Given the description of an element on the screen output the (x, y) to click on. 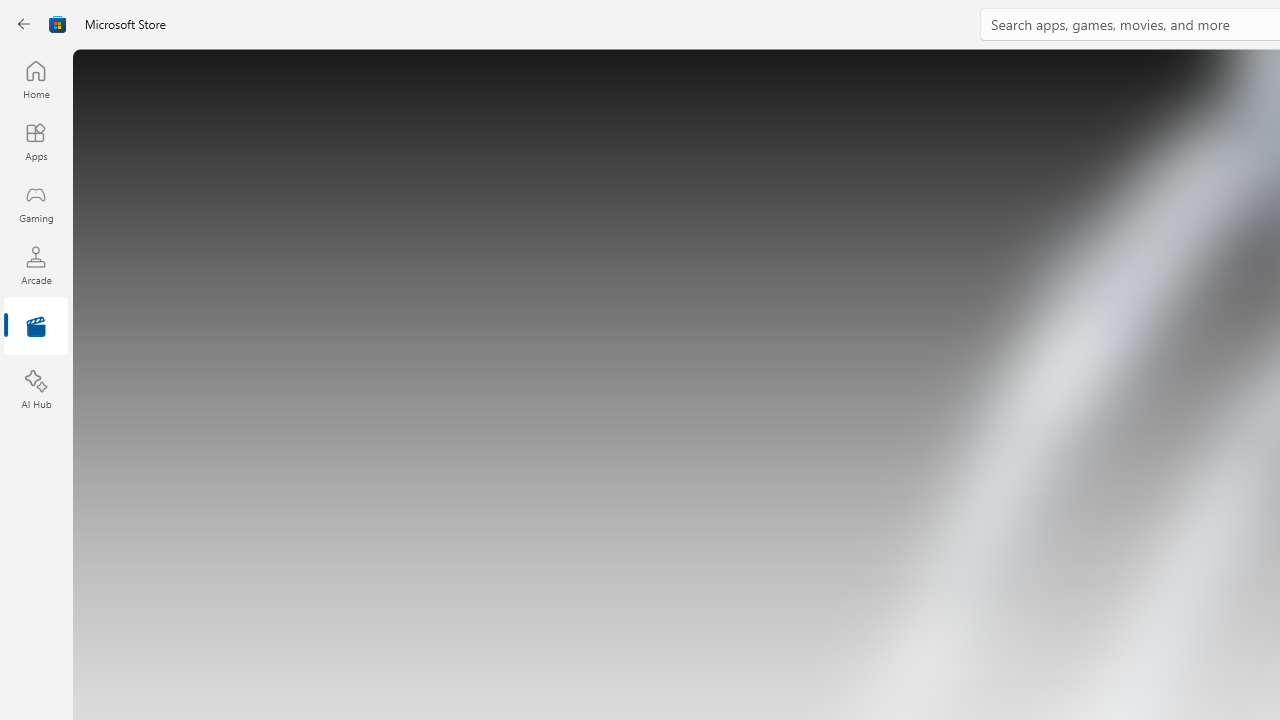
Class: Image (58, 24)
Apps (35, 141)
Arcade (35, 265)
Home (35, 79)
AI Hub (35, 390)
Back (24, 24)
Entertainment (35, 327)
Gaming (35, 203)
